Given the description of an element on the screen output the (x, y) to click on. 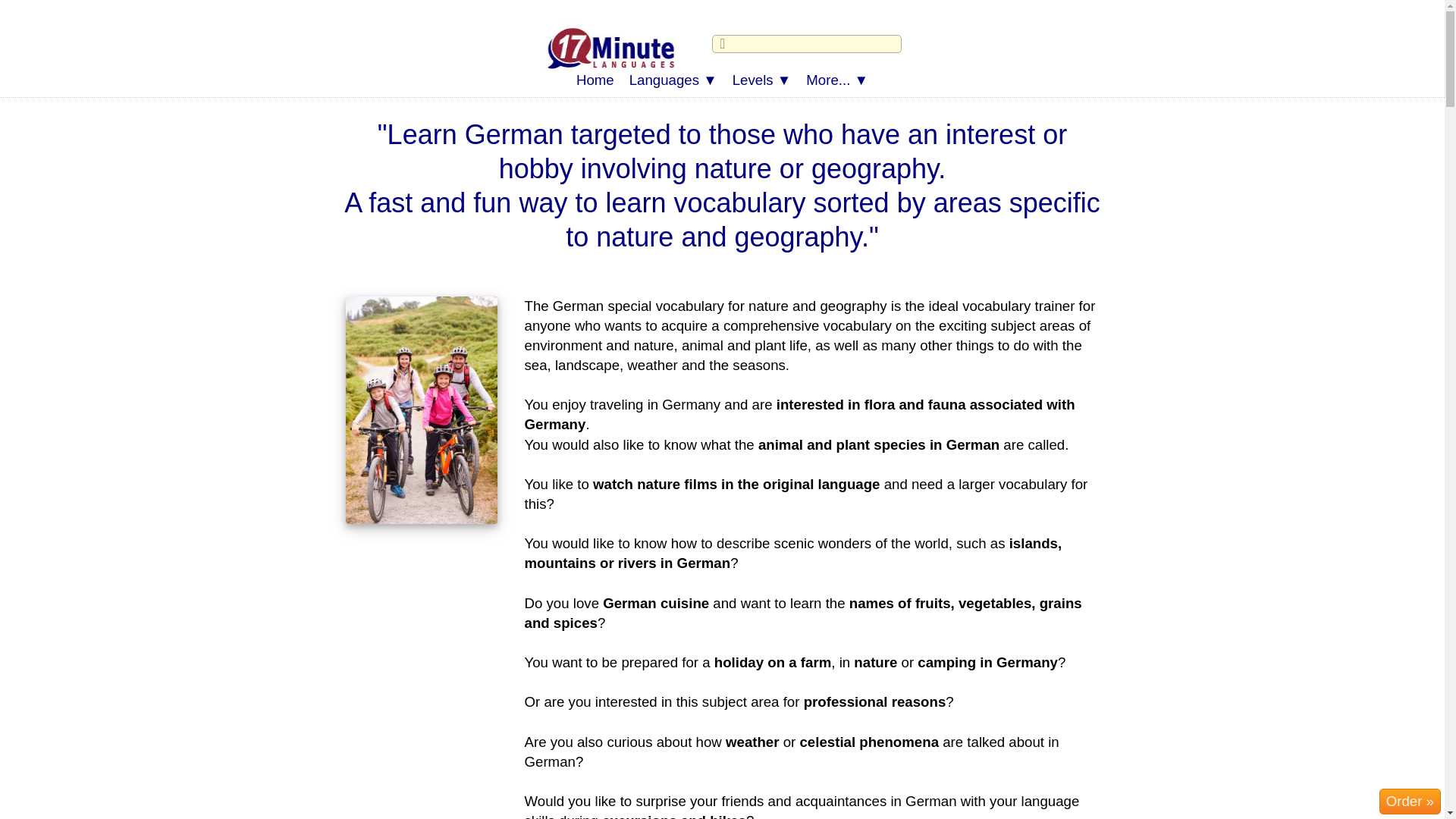
Languages (673, 80)
Home (595, 80)
